Given the description of an element on the screen output the (x, y) to click on. 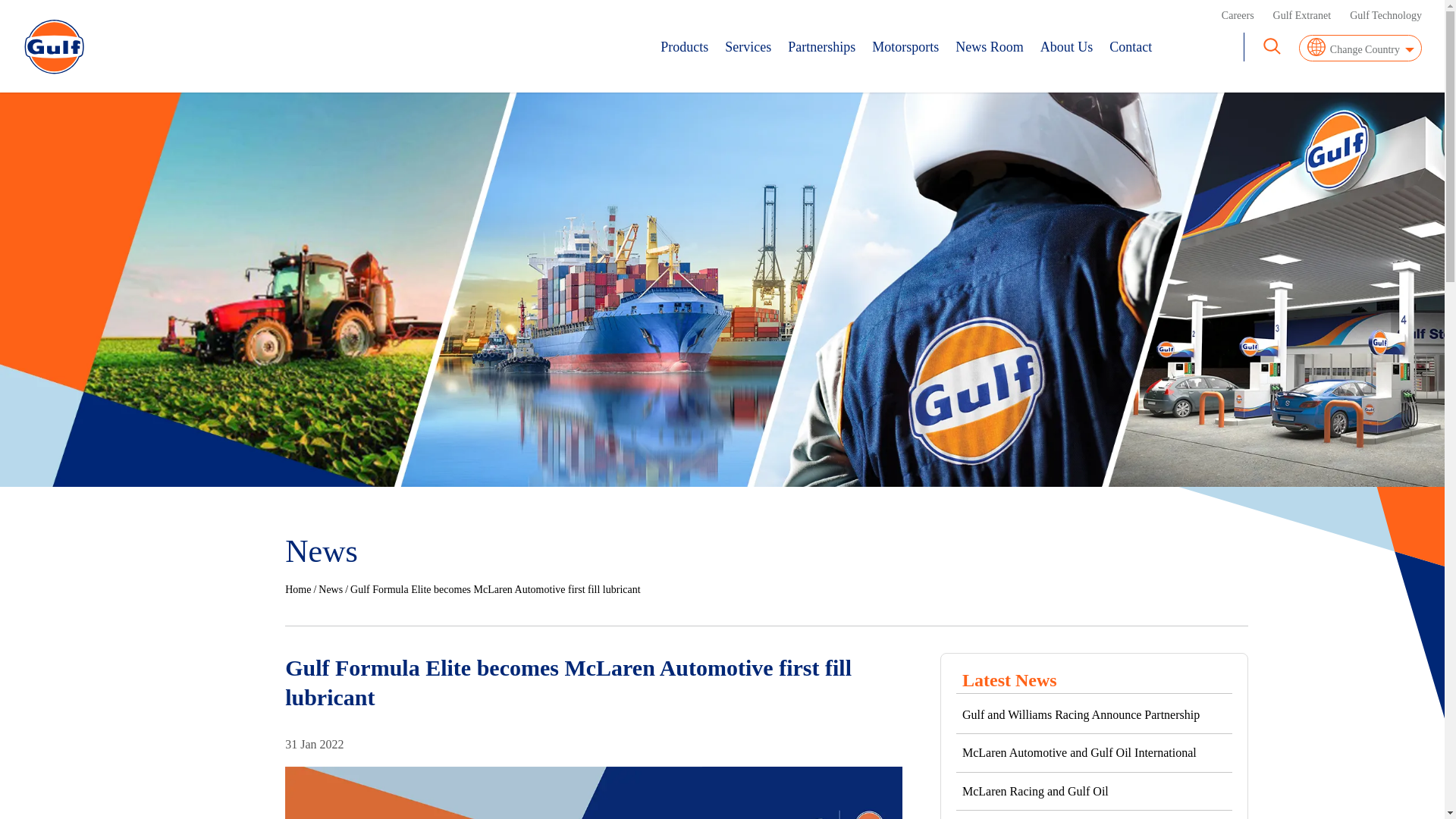
Products (684, 46)
About Us (1067, 46)
Gulf Technology (1385, 15)
Gulf Extranet (1302, 15)
Motorsports (905, 46)
Services (748, 46)
Contact Us (1130, 46)
News Room (989, 46)
Careers (1237, 15)
Partnerships (821, 46)
